Given the description of an element on the screen output the (x, y) to click on. 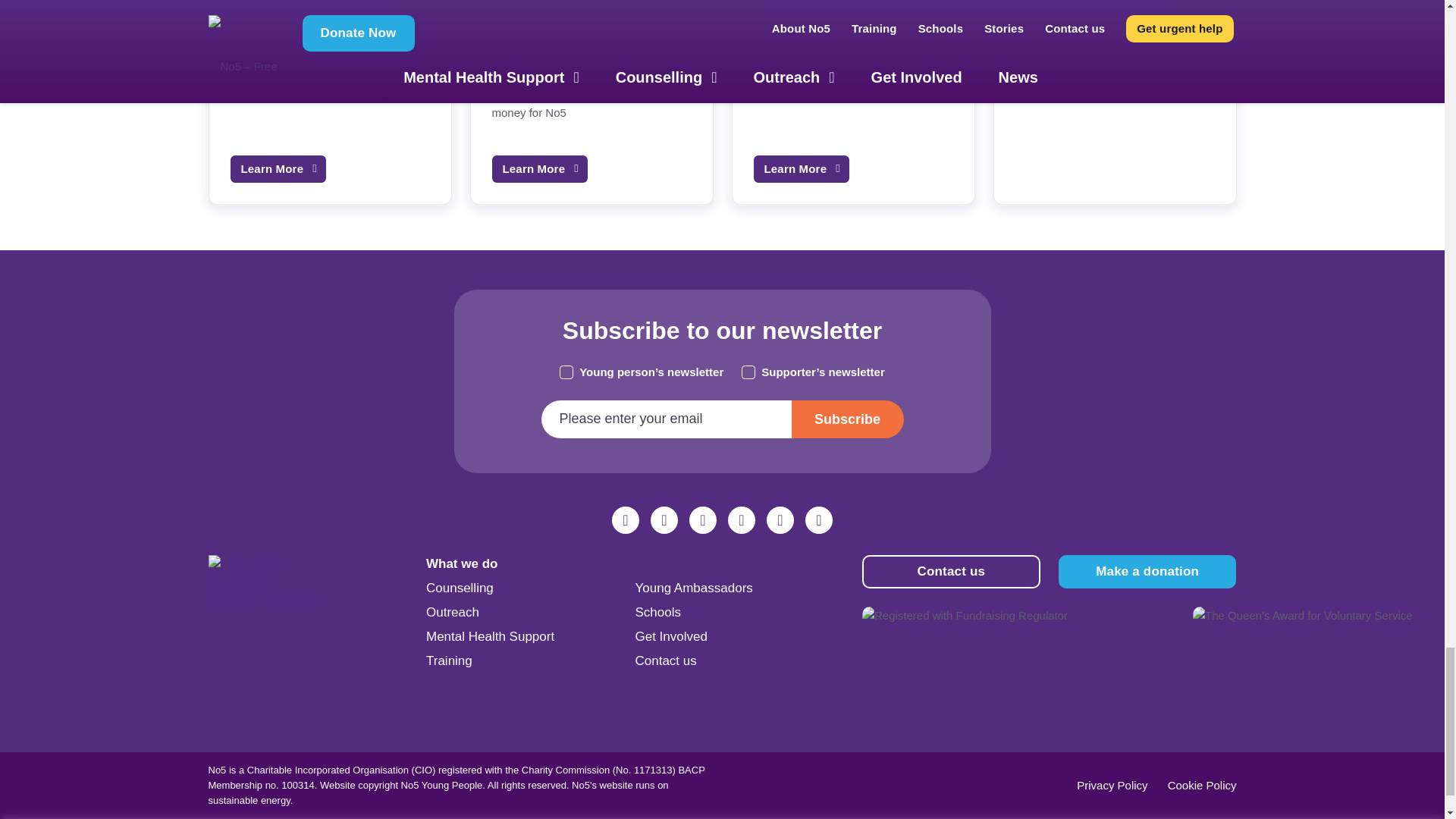
Subscribe (848, 419)
